Given the description of an element on the screen output the (x, y) to click on. 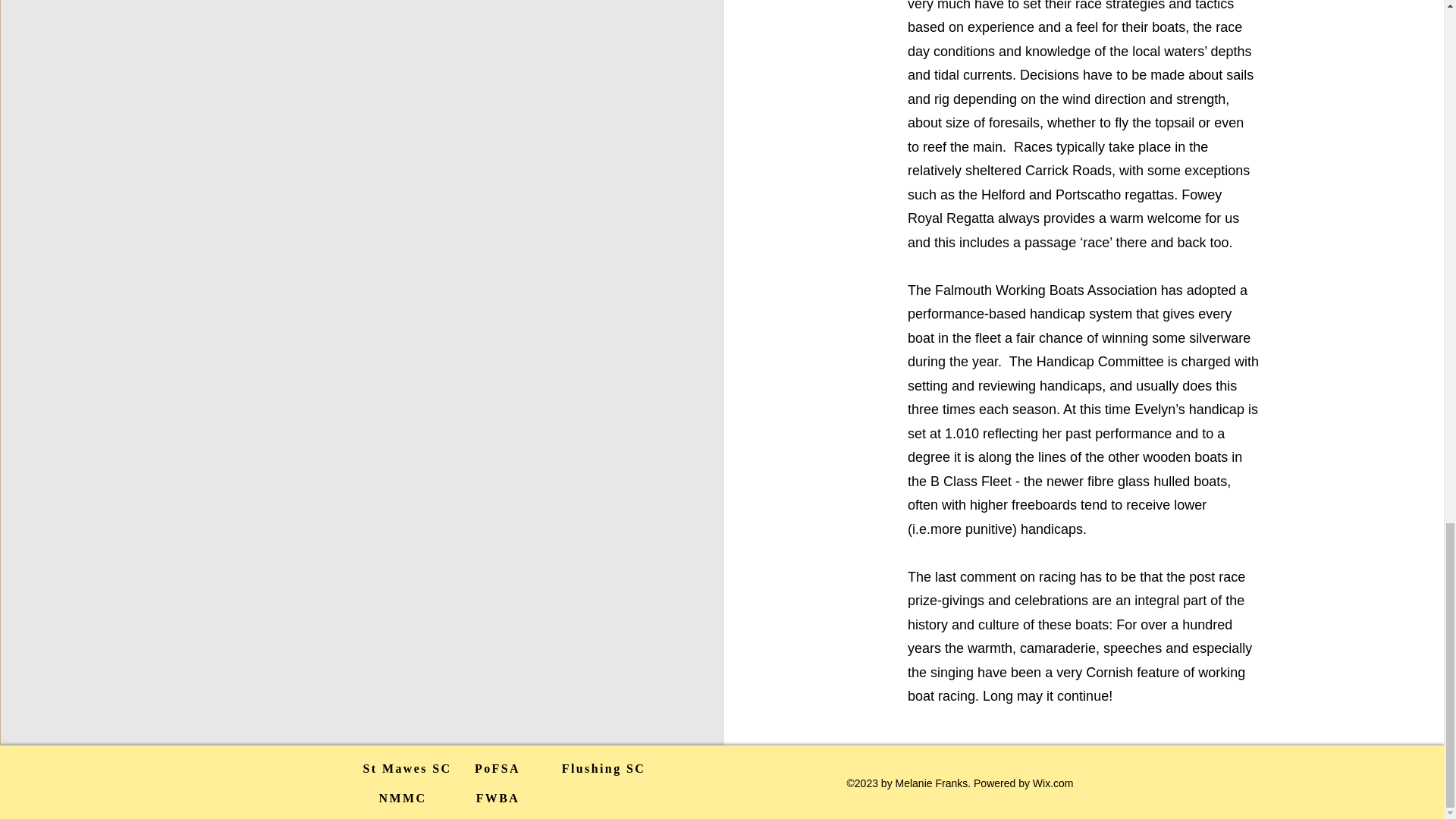
Flushing SC (602, 768)
NMMC (403, 798)
PoFSA (497, 768)
FWBA (498, 798)
St Mawes SC (406, 768)
